Given the description of an element on the screen output the (x, y) to click on. 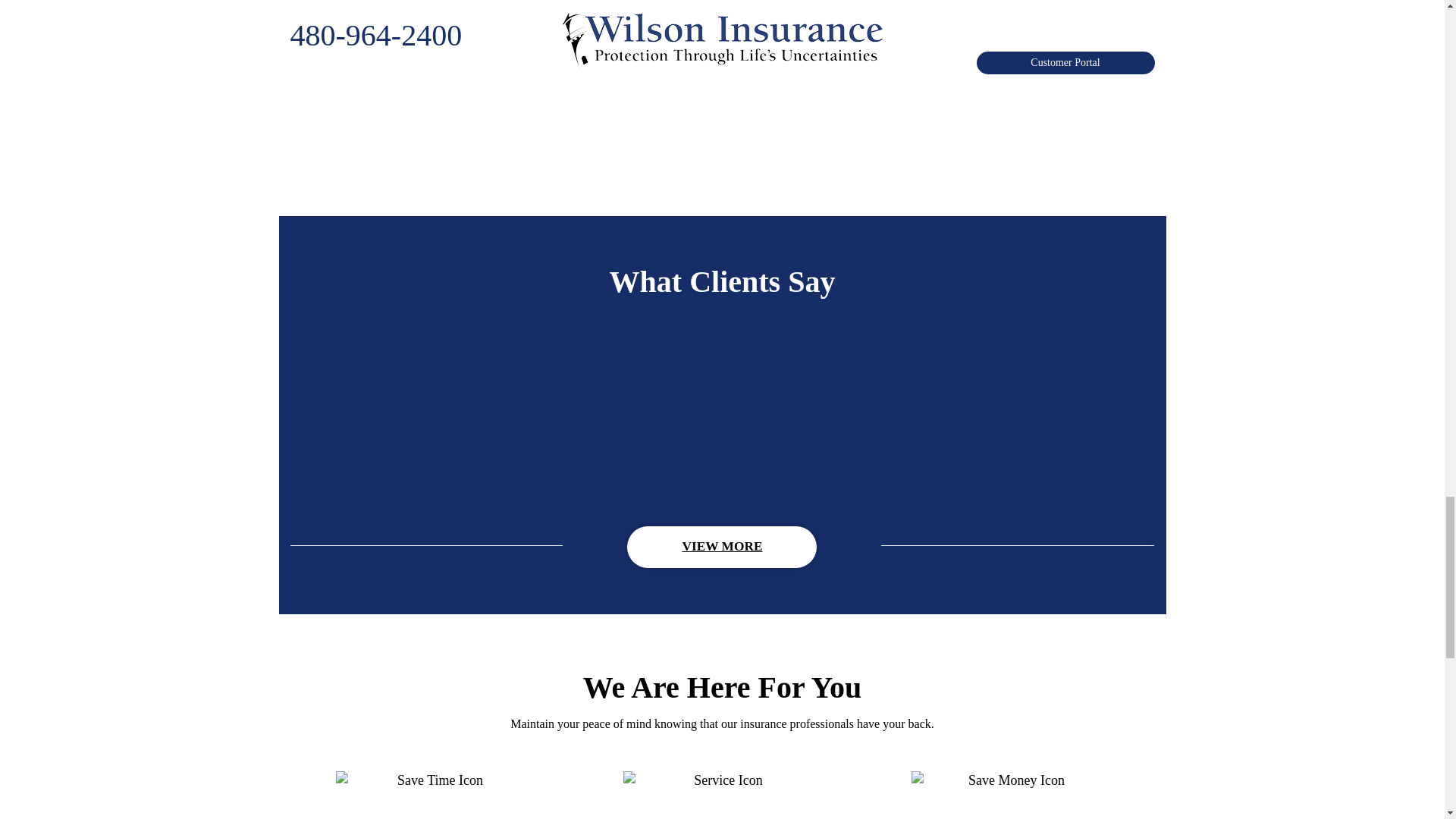
VIEW MORE (721, 547)
